Given the description of an element on the screen output the (x, y) to click on. 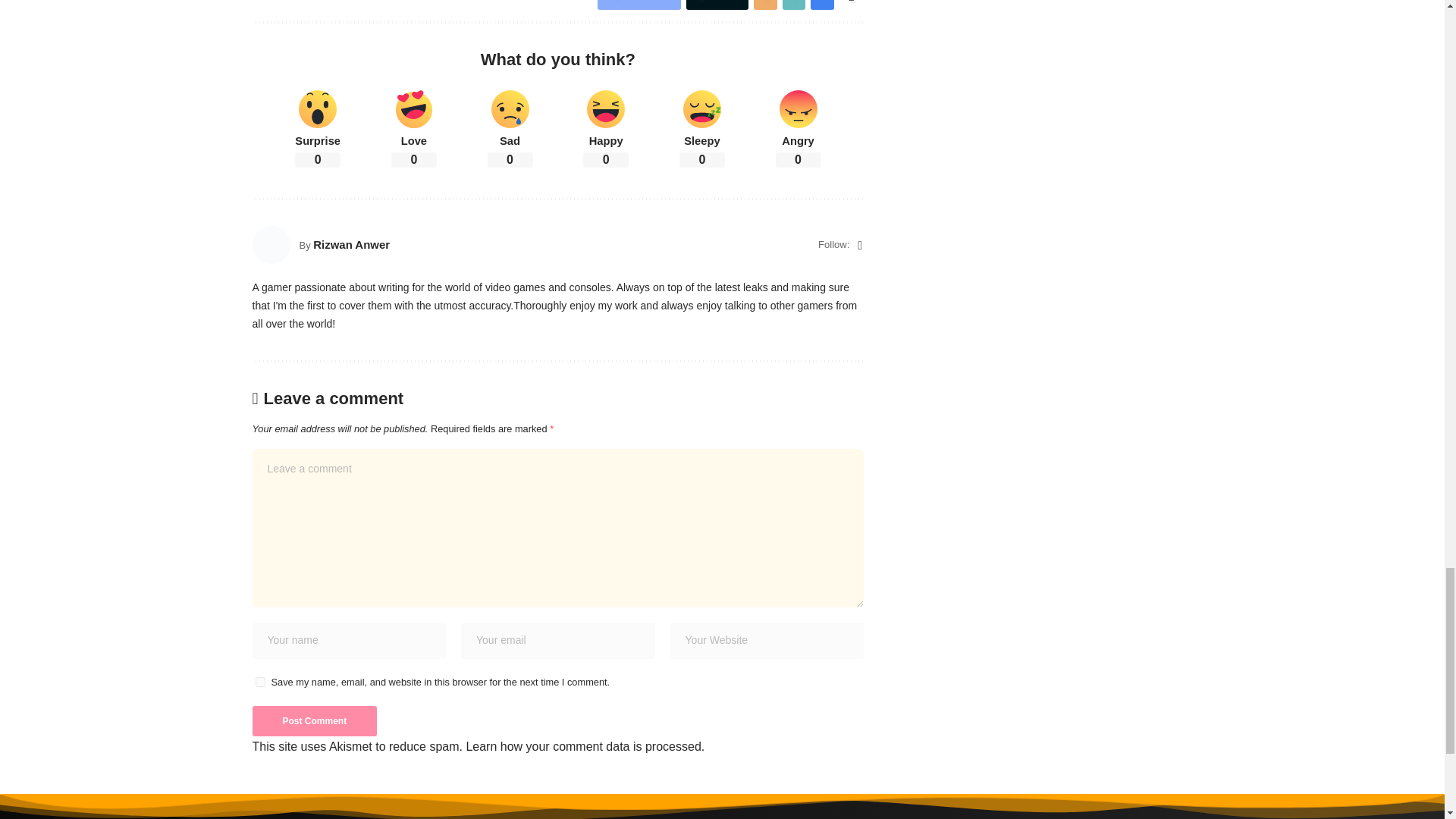
Post Comment (314, 720)
yes (259, 682)
